Given the description of an element on the screen output the (x, y) to click on. 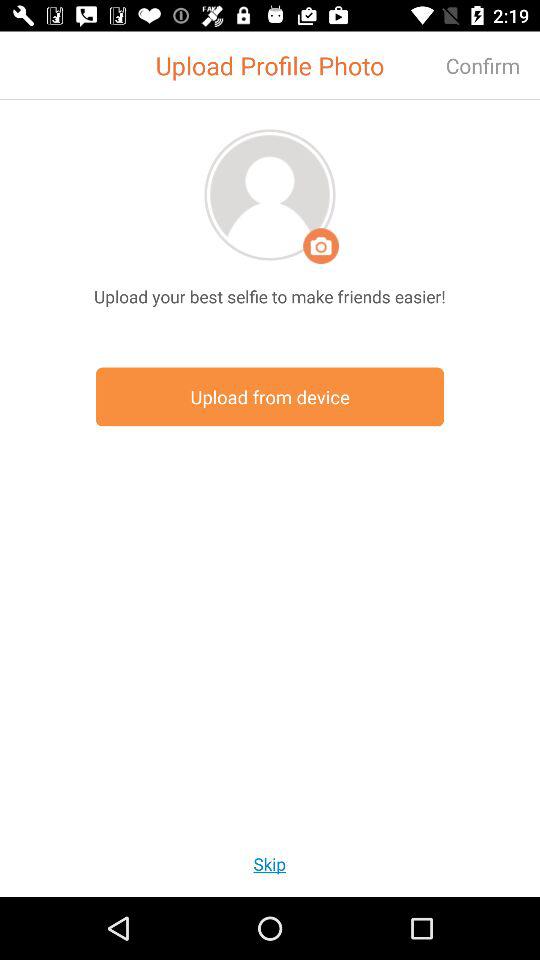
turn off the icon below upload your best icon (270, 396)
